Given the description of an element on the screen output the (x, y) to click on. 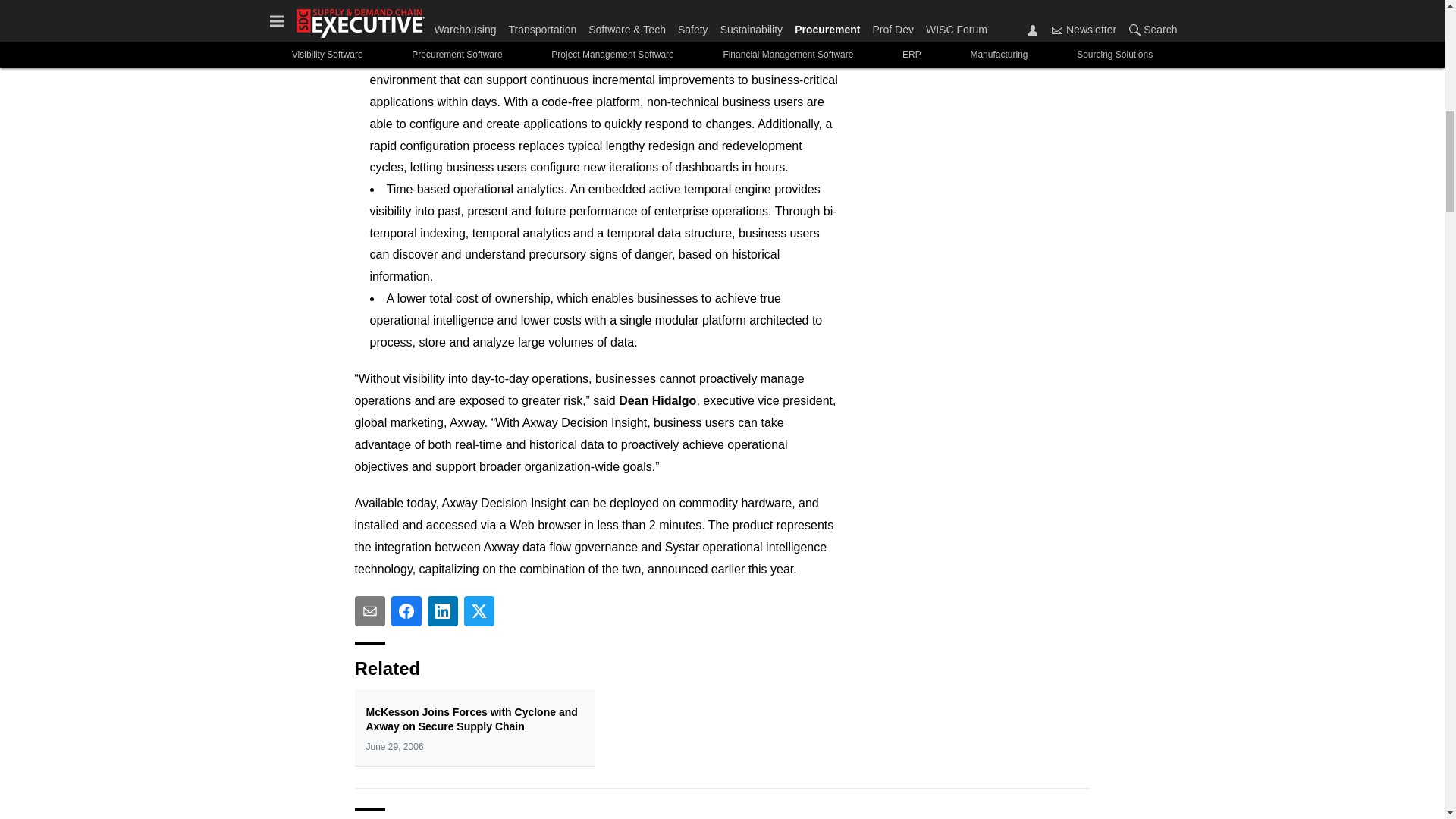
Share To email (370, 611)
Share To linkedin (443, 611)
Share To facebook (406, 611)
Share To twitter (479, 611)
